Given the description of an element on the screen output the (x, y) to click on. 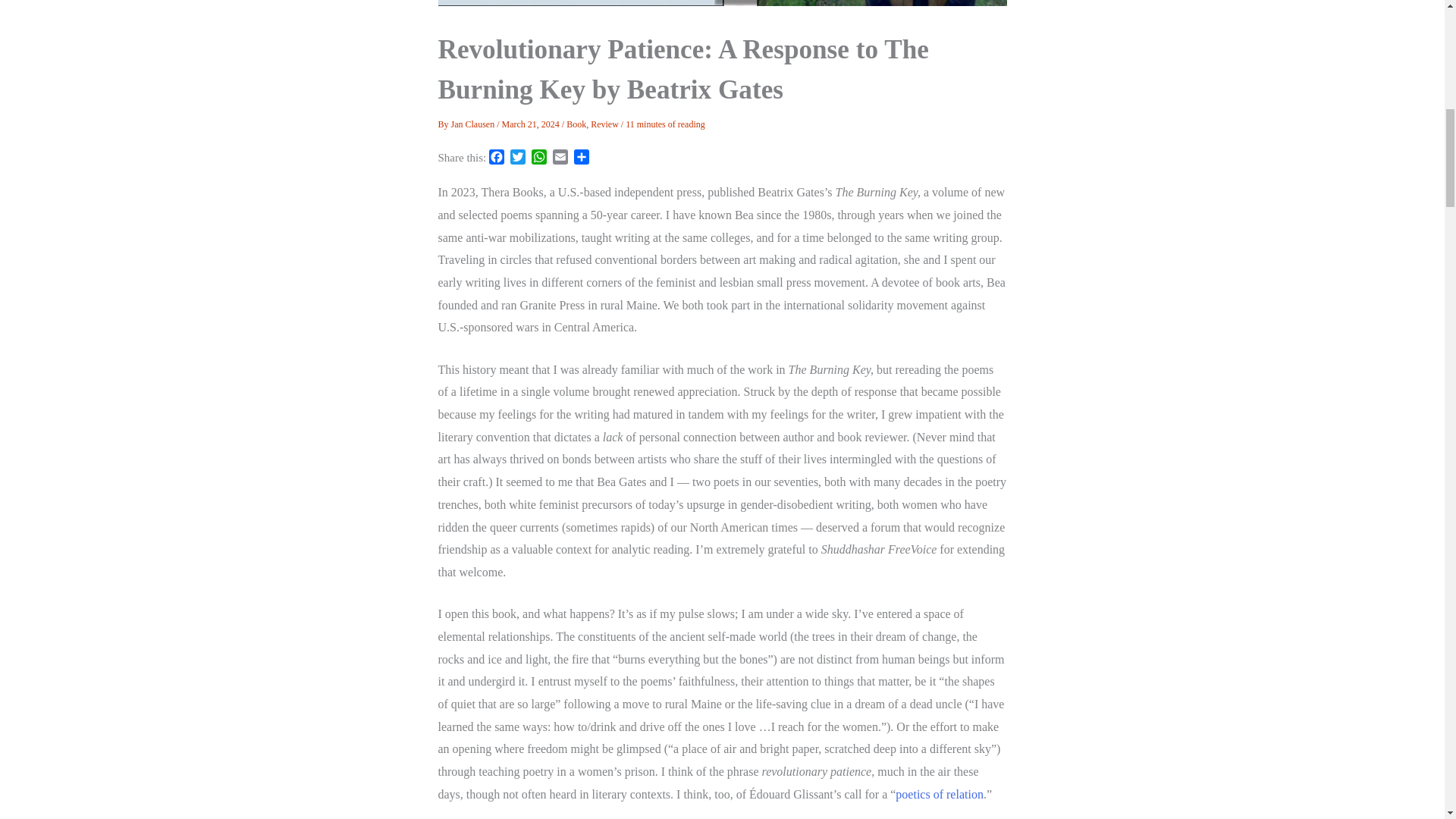
Facebook (496, 158)
View all posts by Jan Clausen (474, 123)
Facebook (496, 158)
Twitter (517, 158)
Email (560, 158)
Twitter (517, 158)
WhatsApp (539, 158)
Book (576, 123)
WhatsApp (539, 158)
poetics of relation (939, 793)
